Given the description of an element on the screen output the (x, y) to click on. 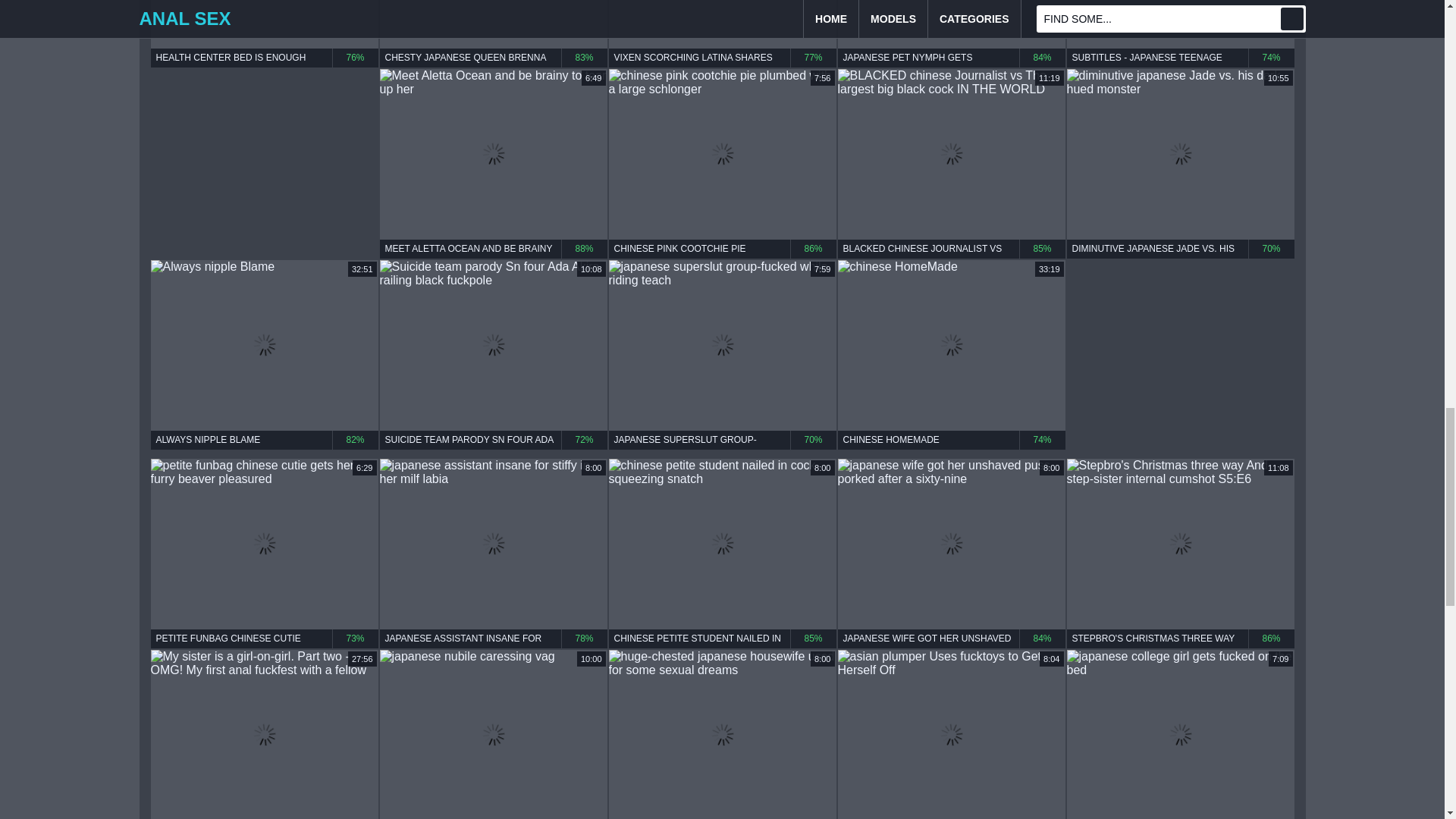
SUBTITLES - JAPANESE TEENAGE RIKO MASAKI IN HARDCORE PORNO (1179, 57)
VIXEN SCORCHING LATINA SHARES HER BF WITH ROOMMATE (721, 57)
JAPANESE PET NYMPH GETS HARSHLY HUMPED ON THE BED (950, 57)
11:40 (1179, 24)
12:12 (721, 24)
8:00 (492, 24)
7:59 (950, 24)
HEALTH CENTER BED IS ENOUGH FOR HER TO TOY PUMMEL (263, 57)
6:49 (492, 153)
